Given the description of an element on the screen output the (x, y) to click on. 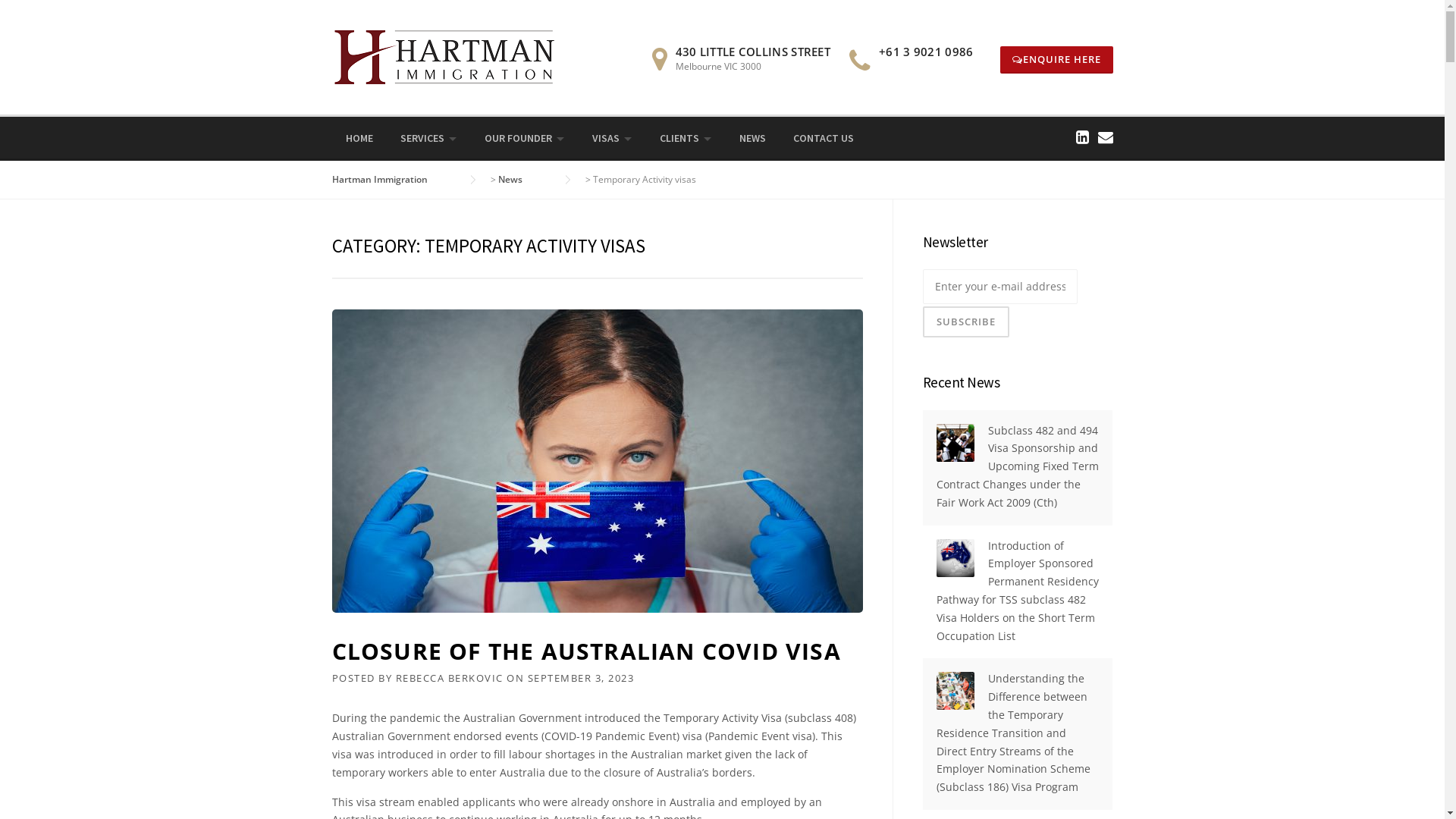
Email Element type: hover (1105, 136)
Hartman Immigration Element type: text (395, 178)
CLOSURE OF THE AUSTRALIAN COVID VISA Element type: text (586, 650)
REBECCA BERKOVIC Element type: text (449, 677)
SEPTEMBER 3, 2023 Element type: text (580, 677)
NEWS Element type: text (751, 138)
CONTACT US Element type: text (823, 138)
VISAS Element type: text (611, 138)
HOME Element type: text (359, 138)
SERVICES Element type: text (428, 138)
Subscribe Element type: text (965, 321)
CLIENTS Element type: text (685, 138)
OUR FOUNDER Element type: text (523, 138)
Hartman Immigration Element type: hover (445, 55)
Search Element type: text (38, 18)
ENQUIRE HERE Element type: text (1055, 59)
Linkedin Element type: hover (1081, 136)
News Element type: text (524, 178)
Skip to content Element type: text (37, 9)
